Given the description of an element on the screen output the (x, y) to click on. 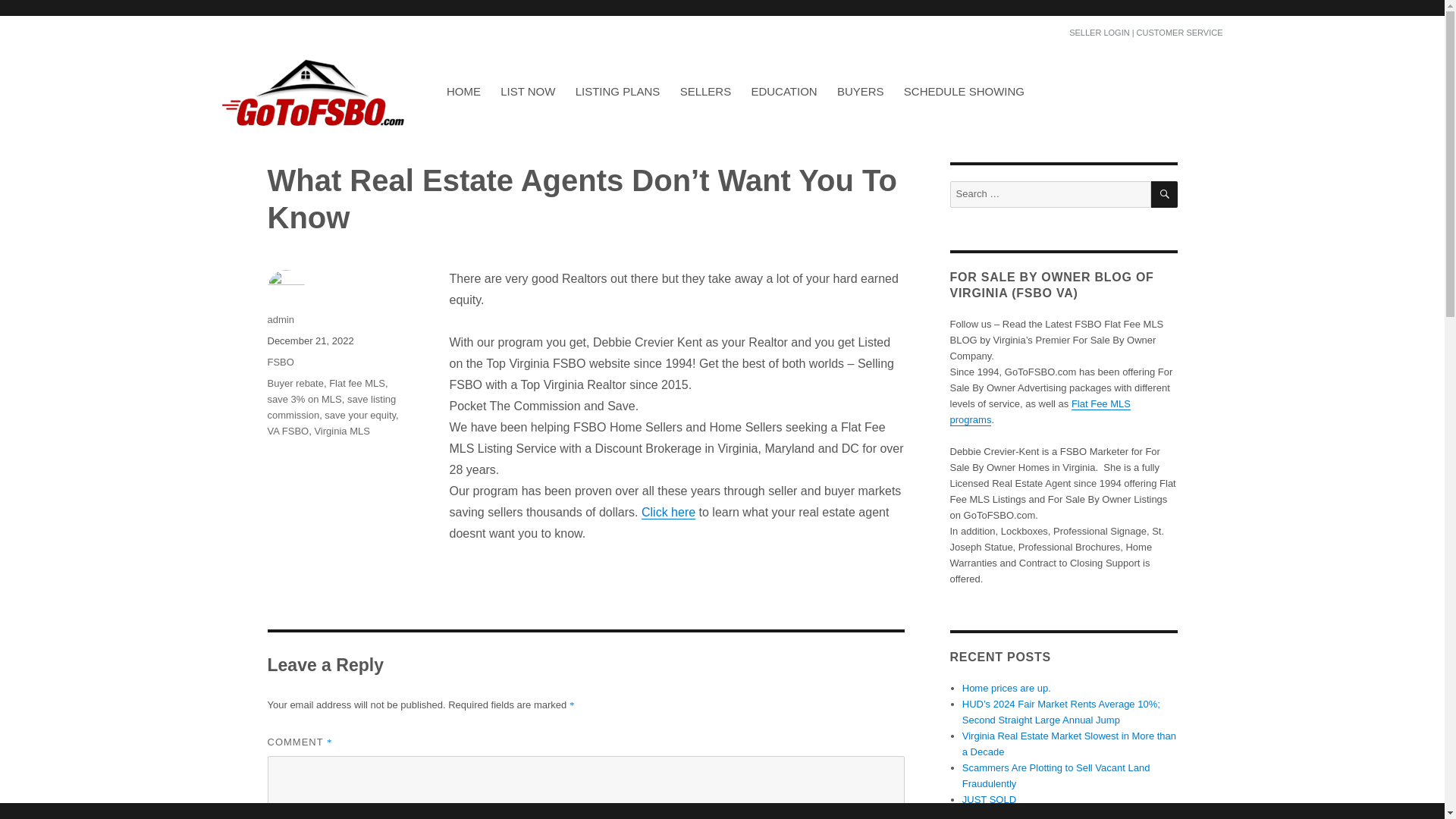
December 21, 2022 (309, 340)
save your equity (360, 414)
Flat Fee Real Estate (413, 6)
Scammers Are Plotting to Sell Vacant Land Fraudulently (1056, 775)
save listing commission (331, 406)
EDUCATION (784, 91)
VA FSBO (287, 430)
LIST NOW (527, 91)
Gotofsbo (268, 149)
SCHEDULE SHOWING (963, 91)
Virginia MLS (341, 430)
LISTING PLANS (617, 91)
Home prices are up. (1006, 687)
Flat fee MLS (357, 383)
Virginia Real Estate Market Slowest in More than a Decade (1069, 743)
